Given the description of an element on the screen output the (x, y) to click on. 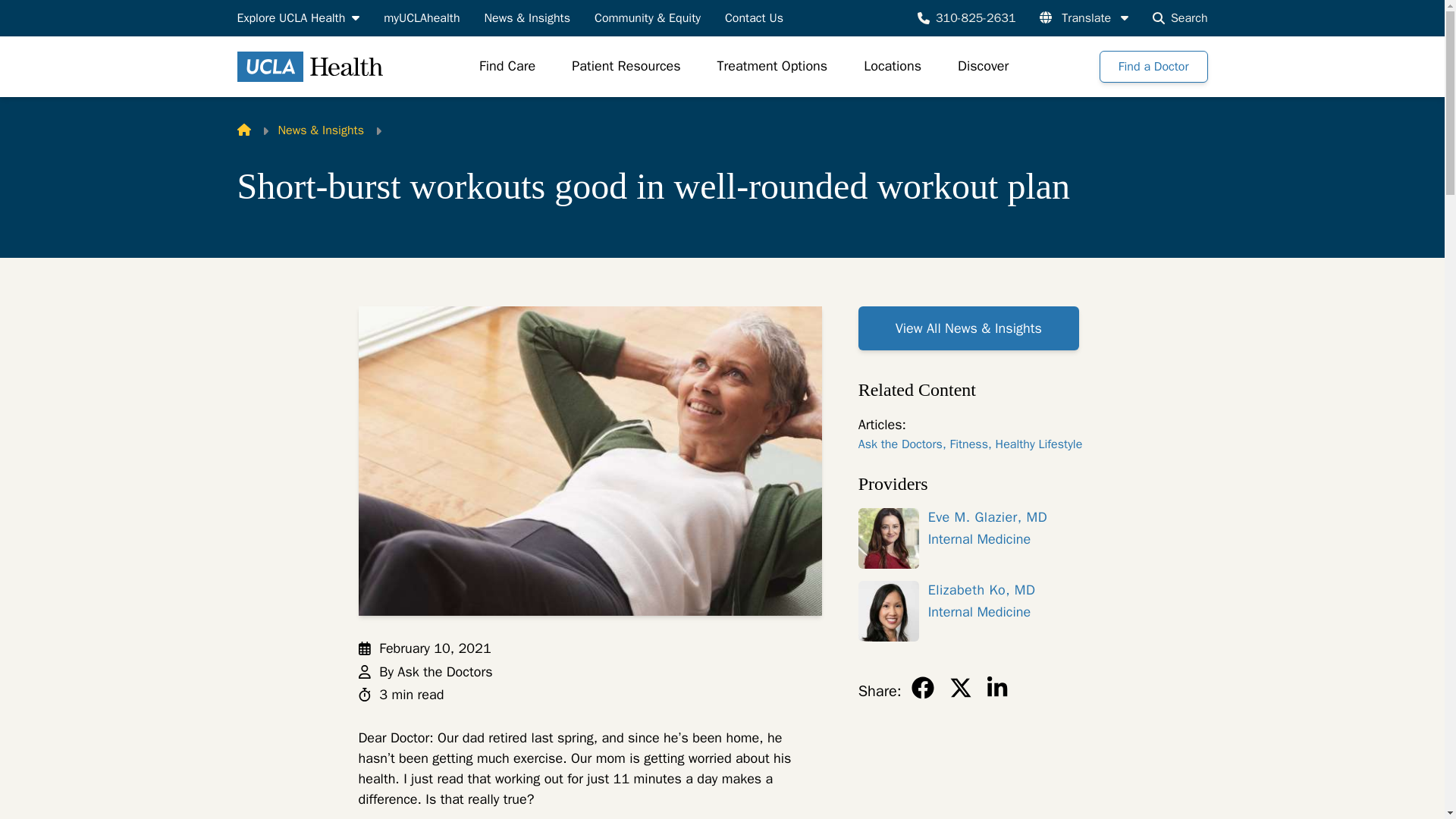
310-825-2631 (966, 17)
Search (1180, 17)
Translate (1083, 17)
Explore UCLA Health (297, 17)
myUCLAhealth (421, 17)
Contact Us (753, 17)
Find Care (507, 66)
myUCLAhealth Login. (421, 17)
